Given the description of an element on the screen output the (x, y) to click on. 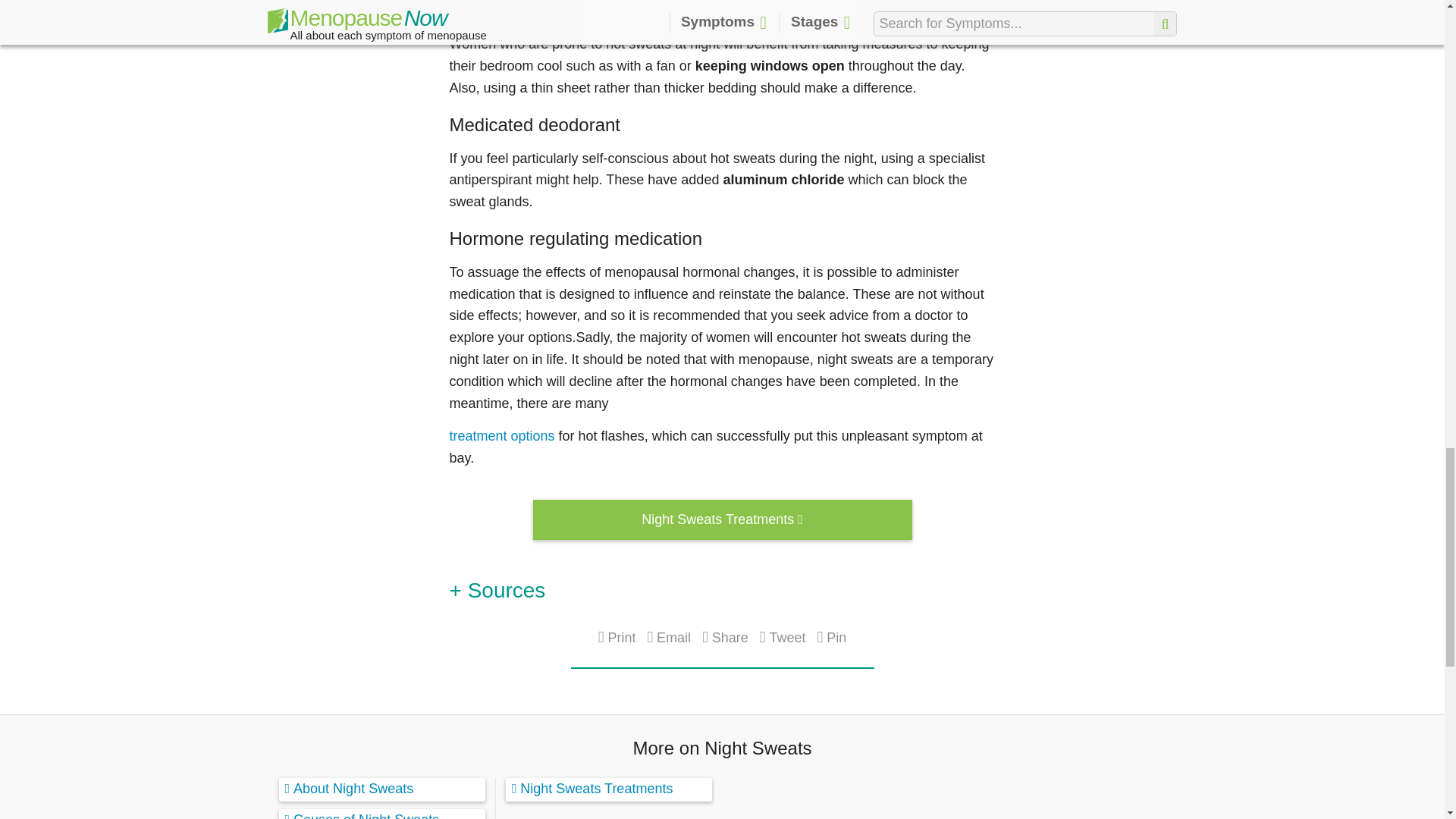
Print this page (617, 637)
Share on Twitter (783, 637)
Share on Facebook (724, 637)
Email this page (668, 637)
Share on Pinterest (831, 637)
